Given the description of an element on the screen output the (x, y) to click on. 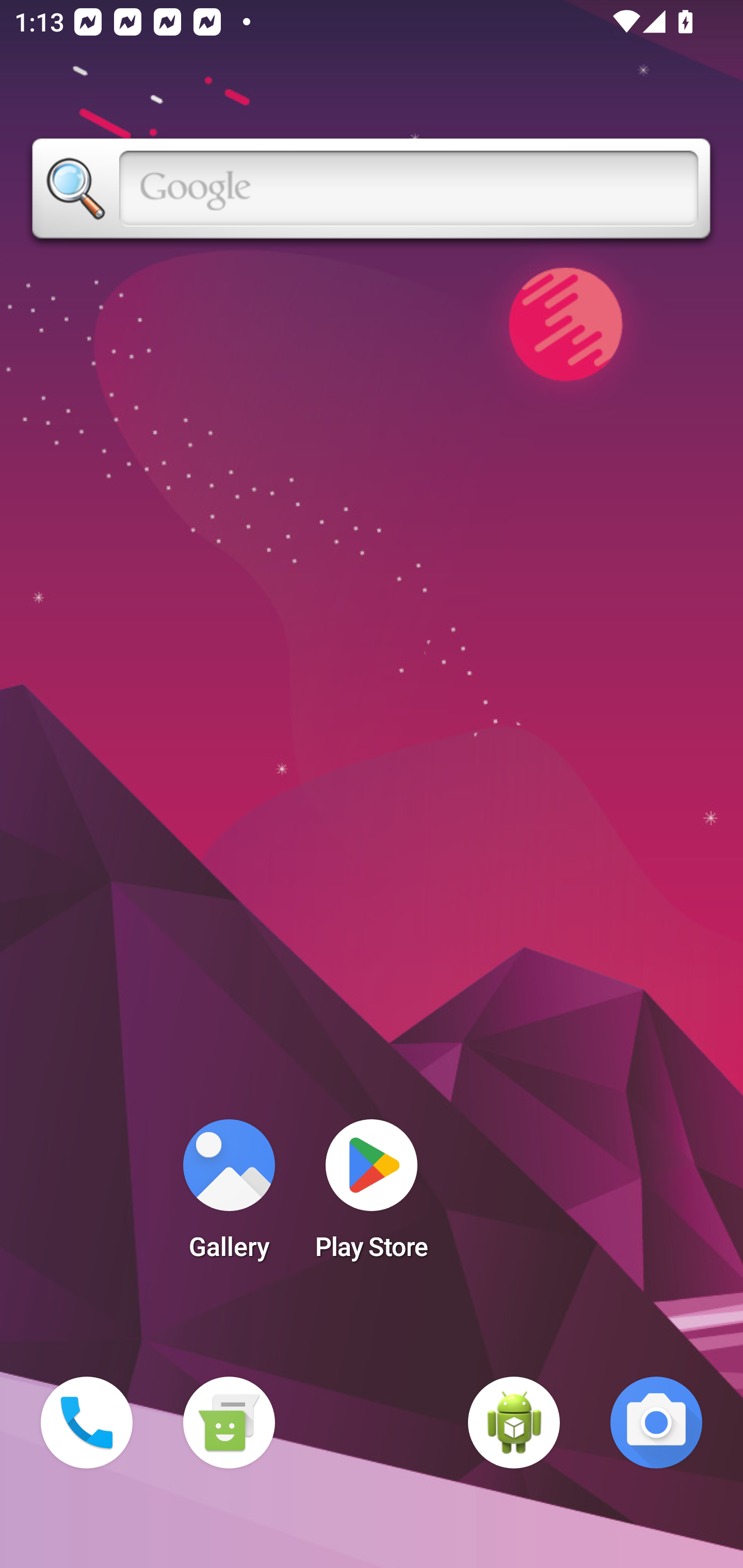
Gallery (228, 1195)
Play Store (371, 1195)
Phone (86, 1422)
Messaging (228, 1422)
WebView Browser Tester (513, 1422)
Camera (656, 1422)
